Given the description of an element on the screen output the (x, y) to click on. 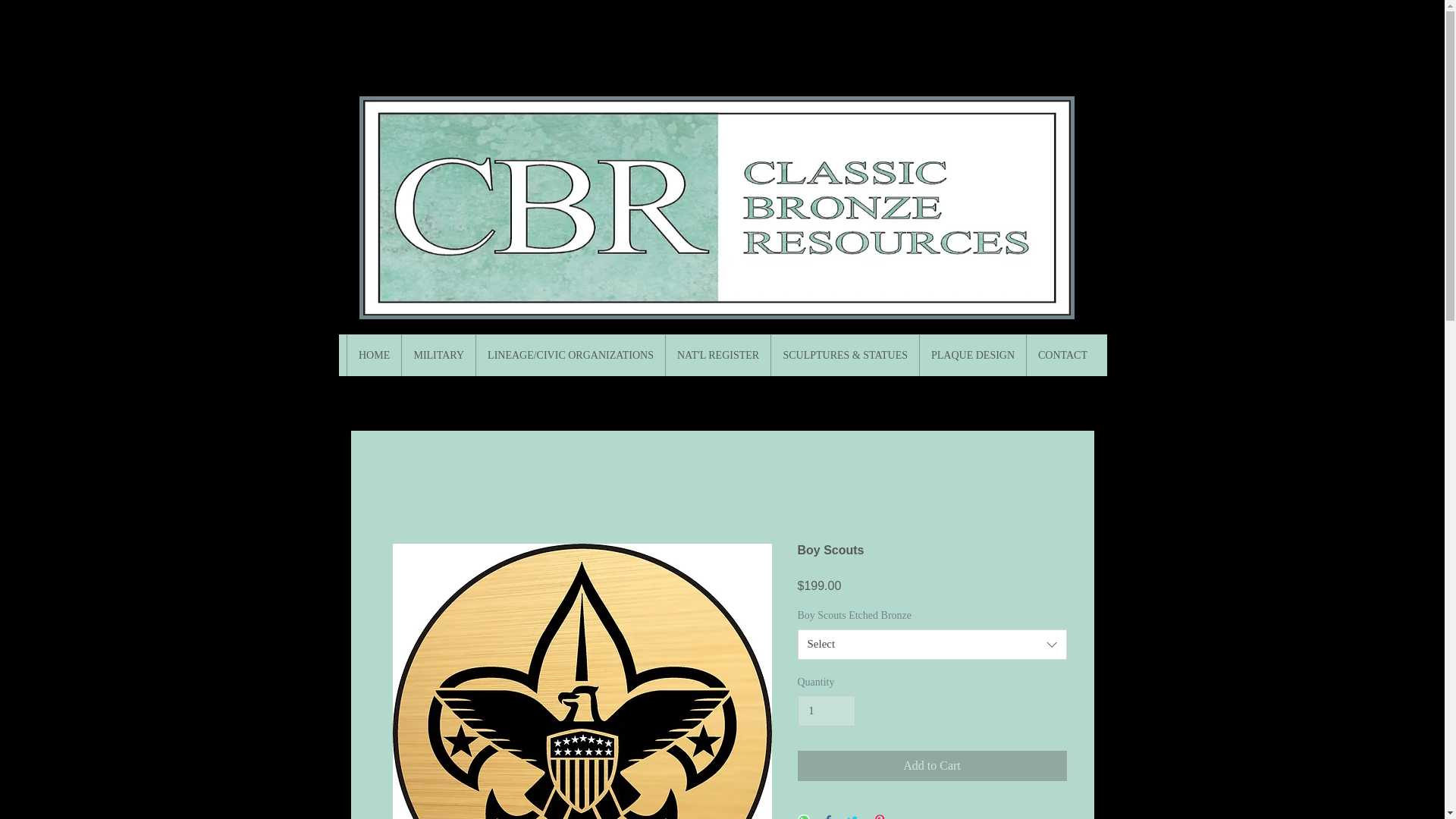
Select (932, 644)
1 (826, 710)
NAT'L REGISTER (717, 354)
PLAQUE DESIGN (972, 354)
CONTACT (1062, 354)
Add to Cart (932, 766)
MILITARY (438, 354)
HOME (373, 354)
